Given the description of an element on the screen output the (x, y) to click on. 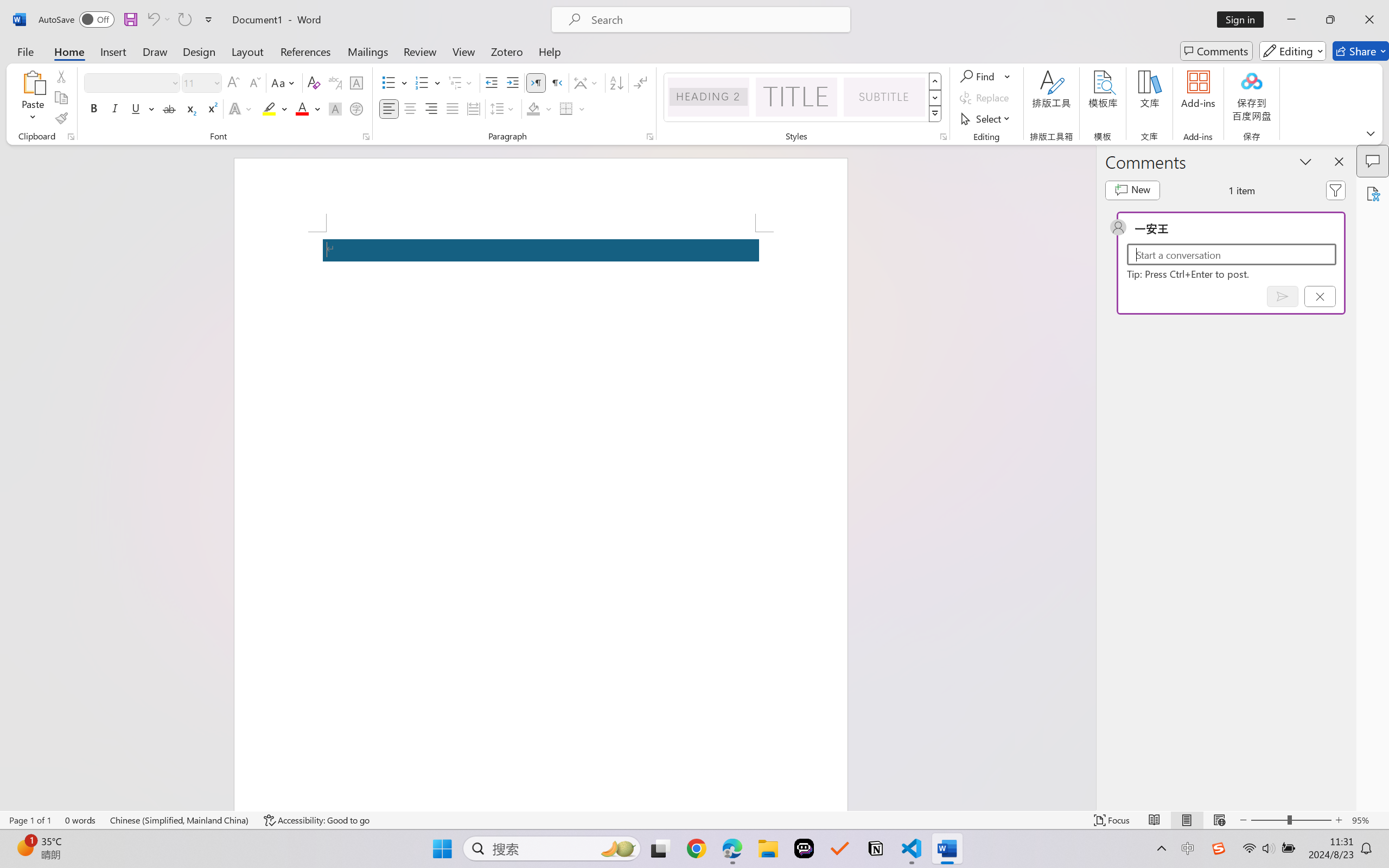
Shading No Color (533, 108)
